Given the description of an element on the screen output the (x, y) to click on. 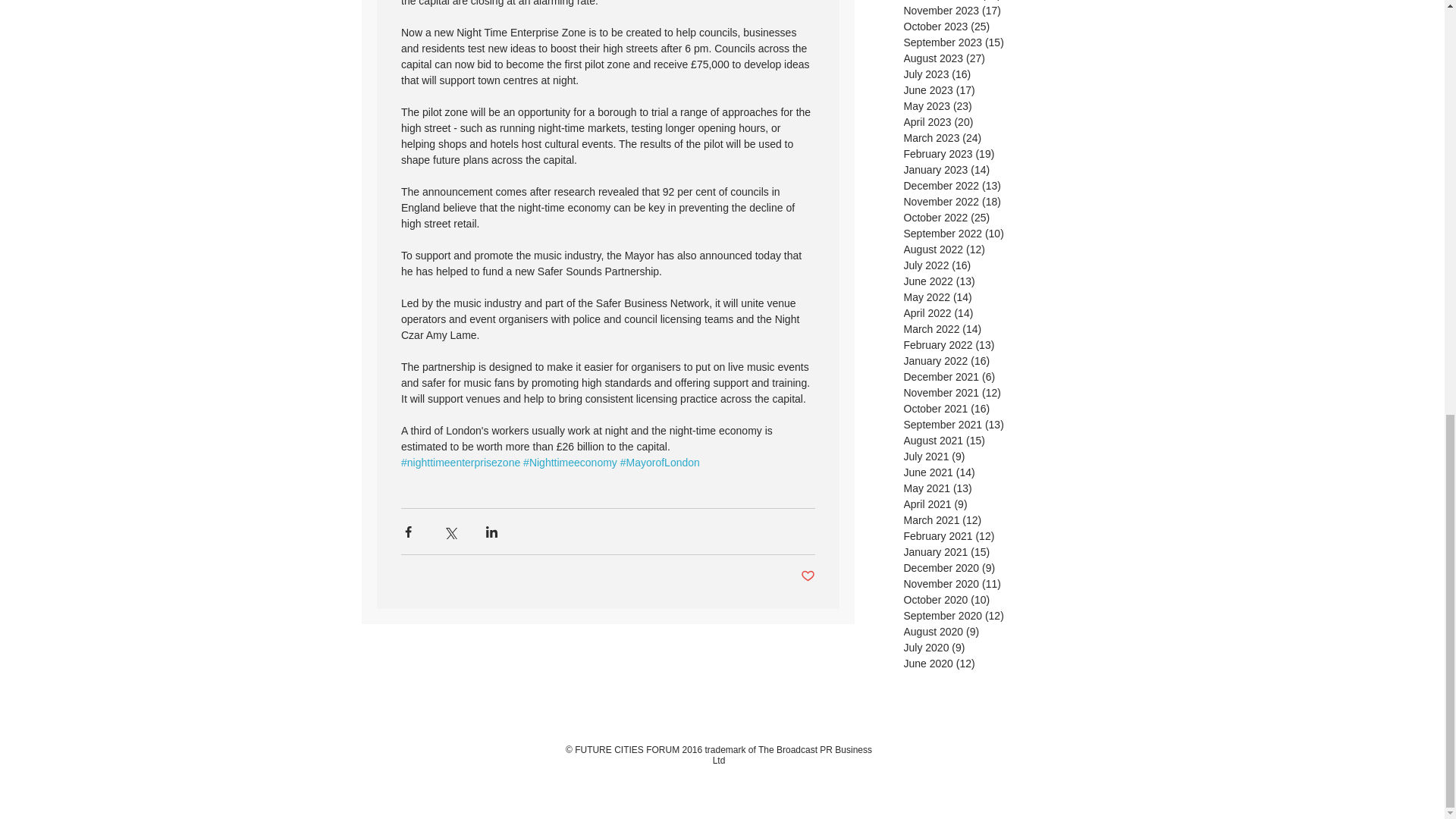
Post not marked as liked (807, 576)
